Given the description of an element on the screen output the (x, y) to click on. 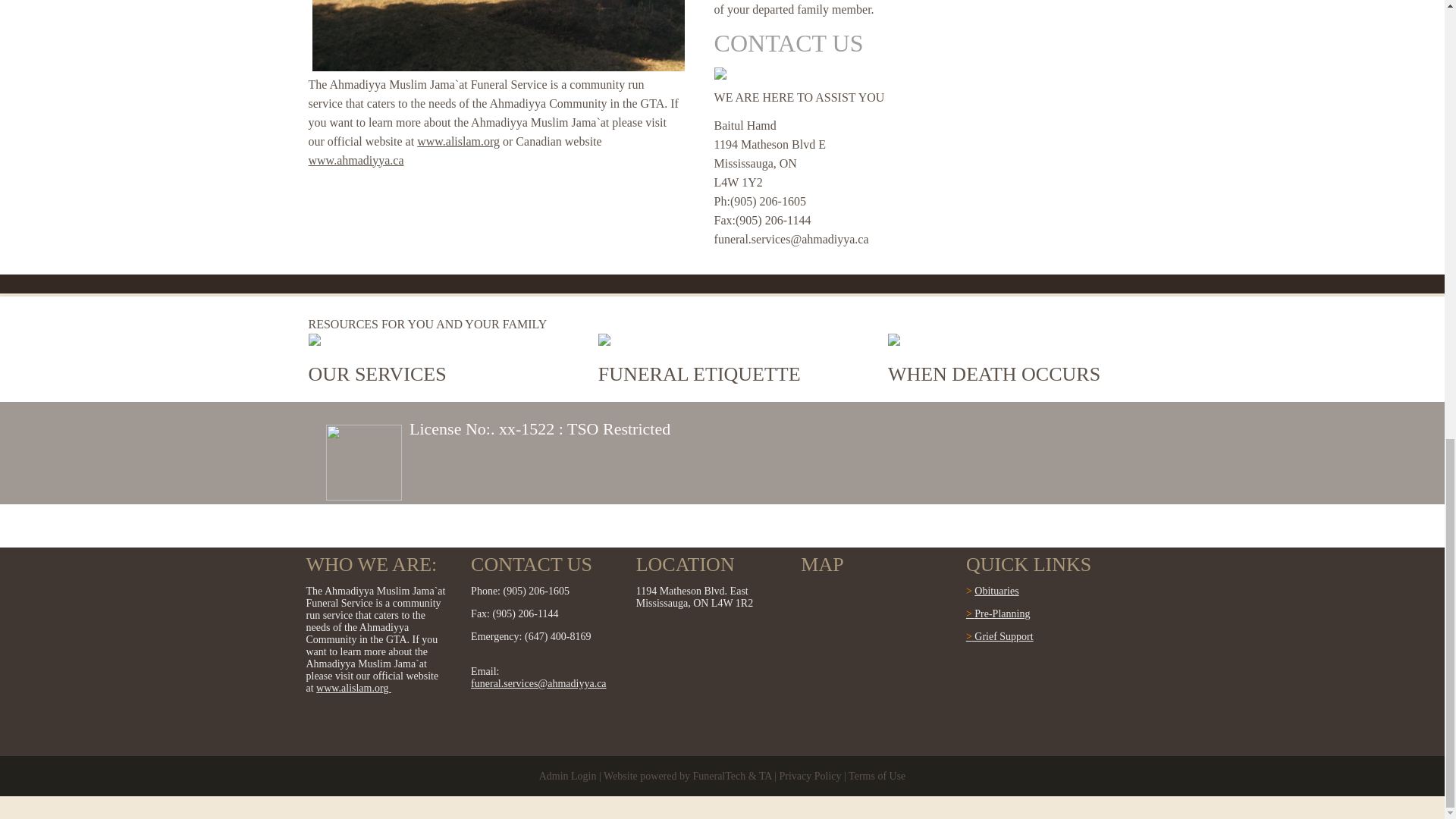
www.alislam.org (457, 141)
www.ahmadiyya.ca (355, 160)
